Given the description of an element on the screen output the (x, y) to click on. 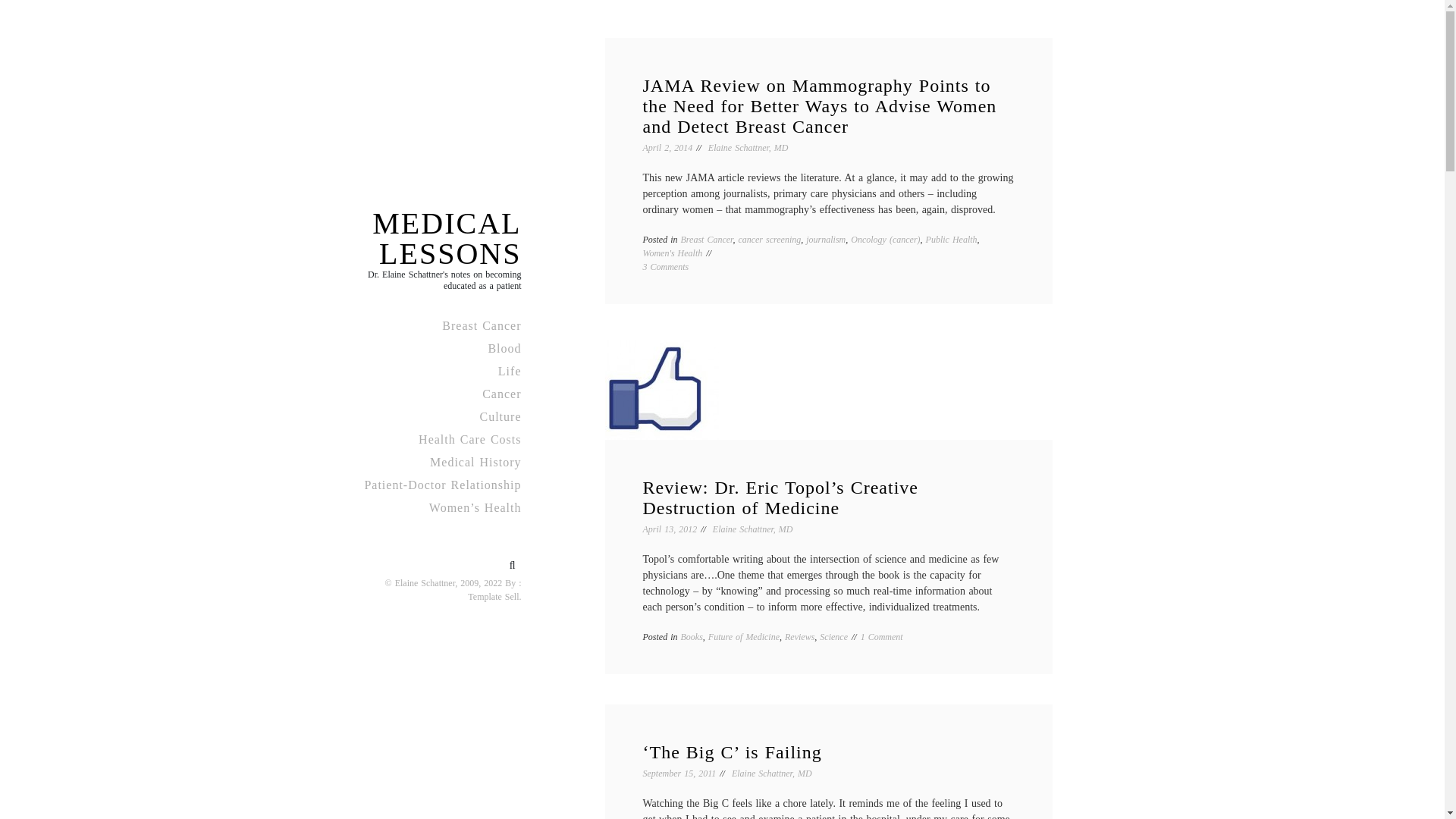
Health Care Costs (438, 438)
Blood (438, 347)
cancer screening (769, 239)
Culture (438, 415)
Elaine Schattner, MD (753, 529)
Template Sell (492, 596)
Life (438, 370)
Future of Medicine (742, 636)
Cancer (438, 393)
Public Health (951, 239)
